Given the description of an element on the screen output the (x, y) to click on. 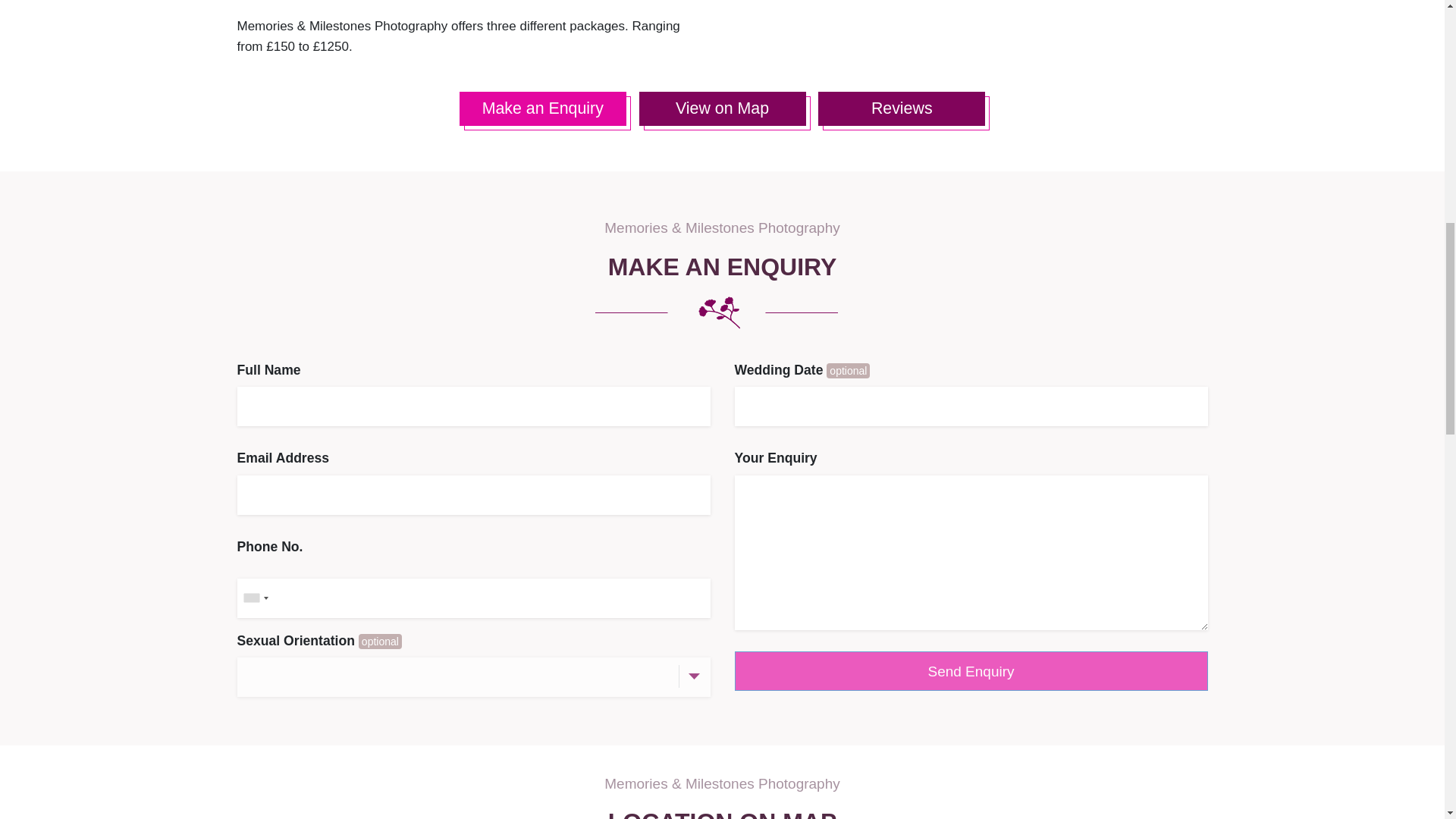
Send Enquiry (970, 671)
